Given the description of an element on the screen output the (x, y) to click on. 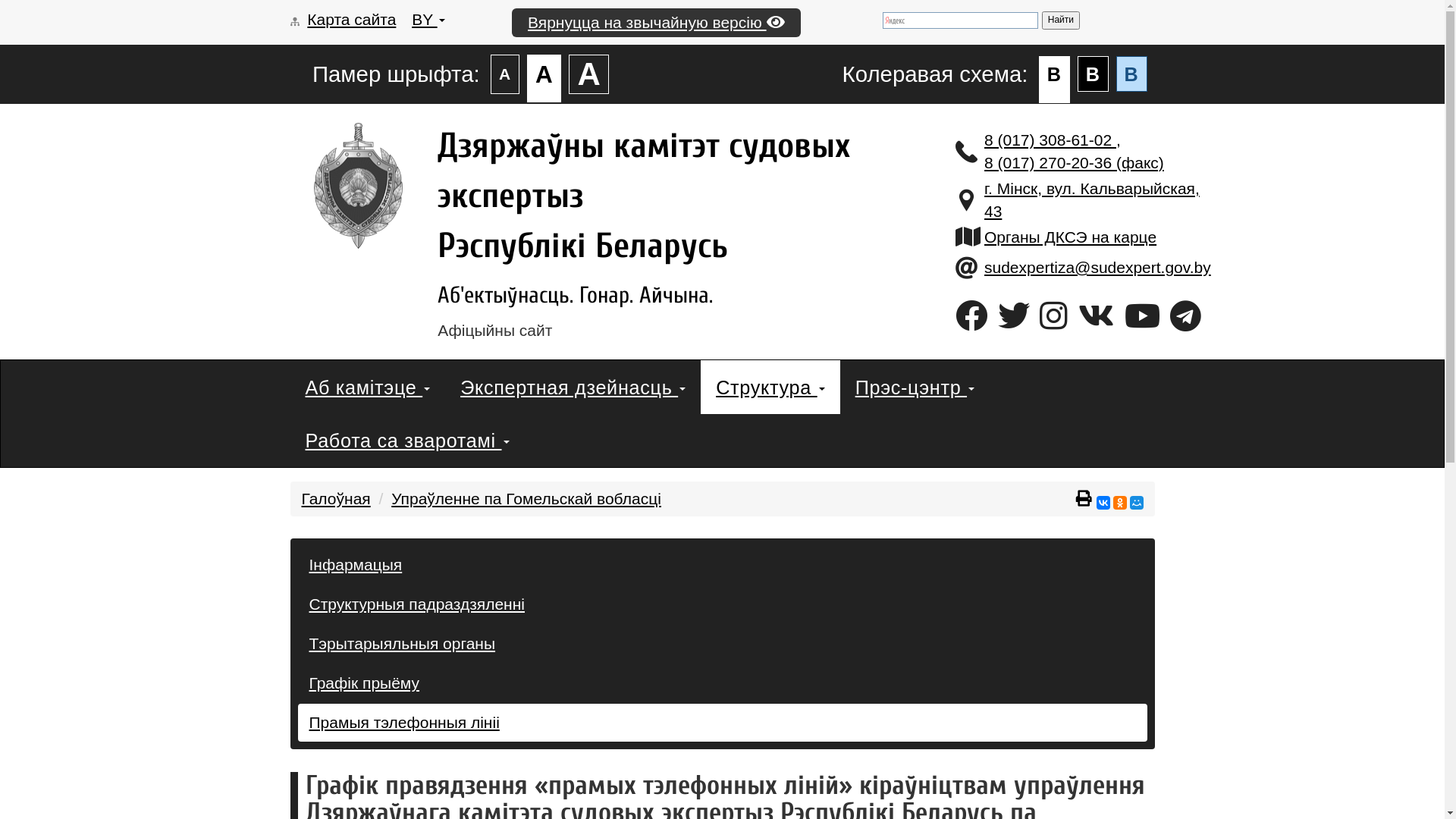
BY Element type: text (427, 19)
B Element type: text (1054, 79)
sudexpertiza@sudexpert.gov.by Element type: text (1097, 267)
B Element type: text (1092, 73)
B Element type: text (1131, 73)
8 (017) 308-61-02 Element type: text (1050, 139)
